Given the description of an element on the screen output the (x, y) to click on. 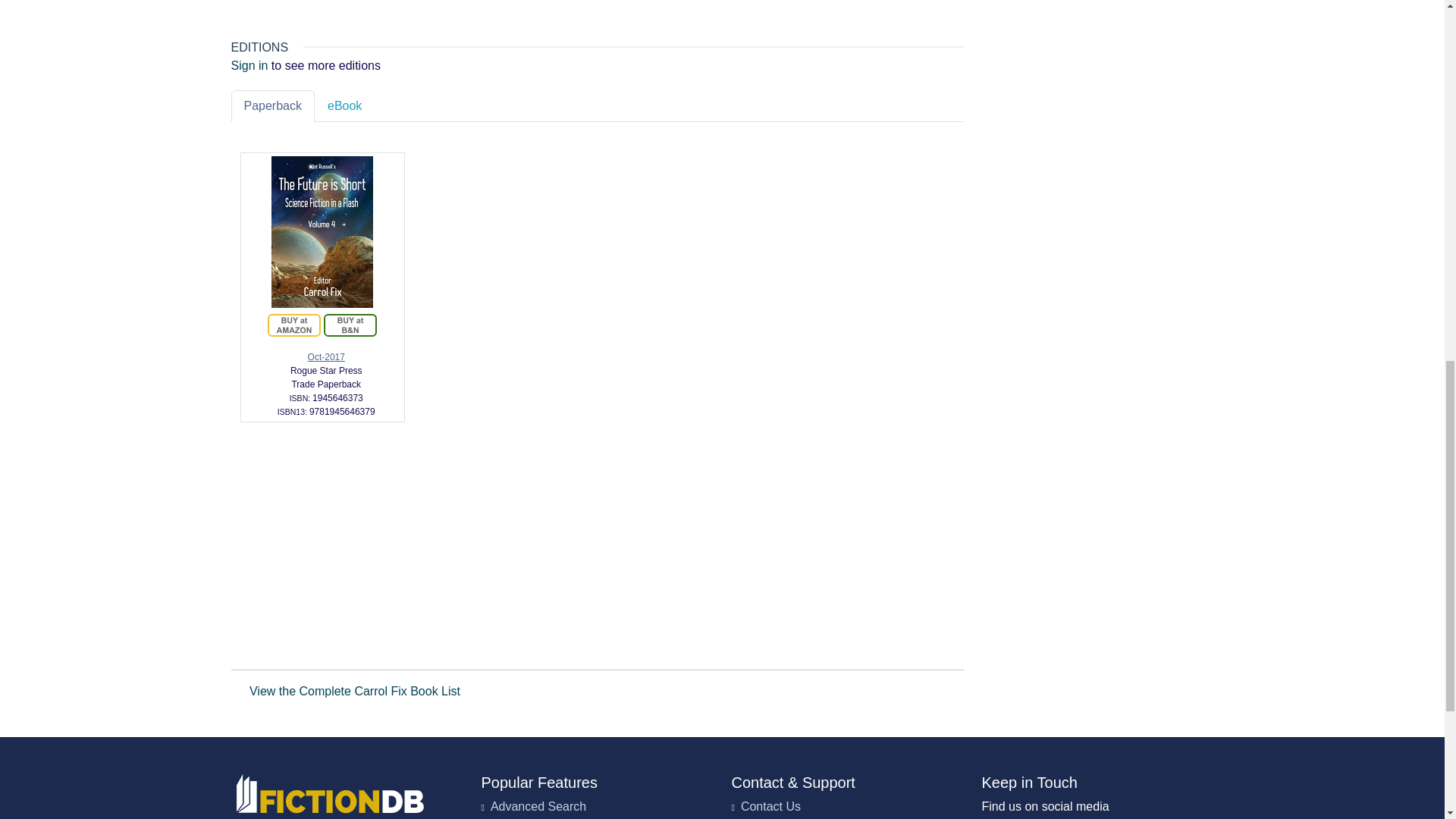
Purchase this edition (293, 324)
Purchase this edition (350, 324)
